Given the description of an element on the screen output the (x, y) to click on. 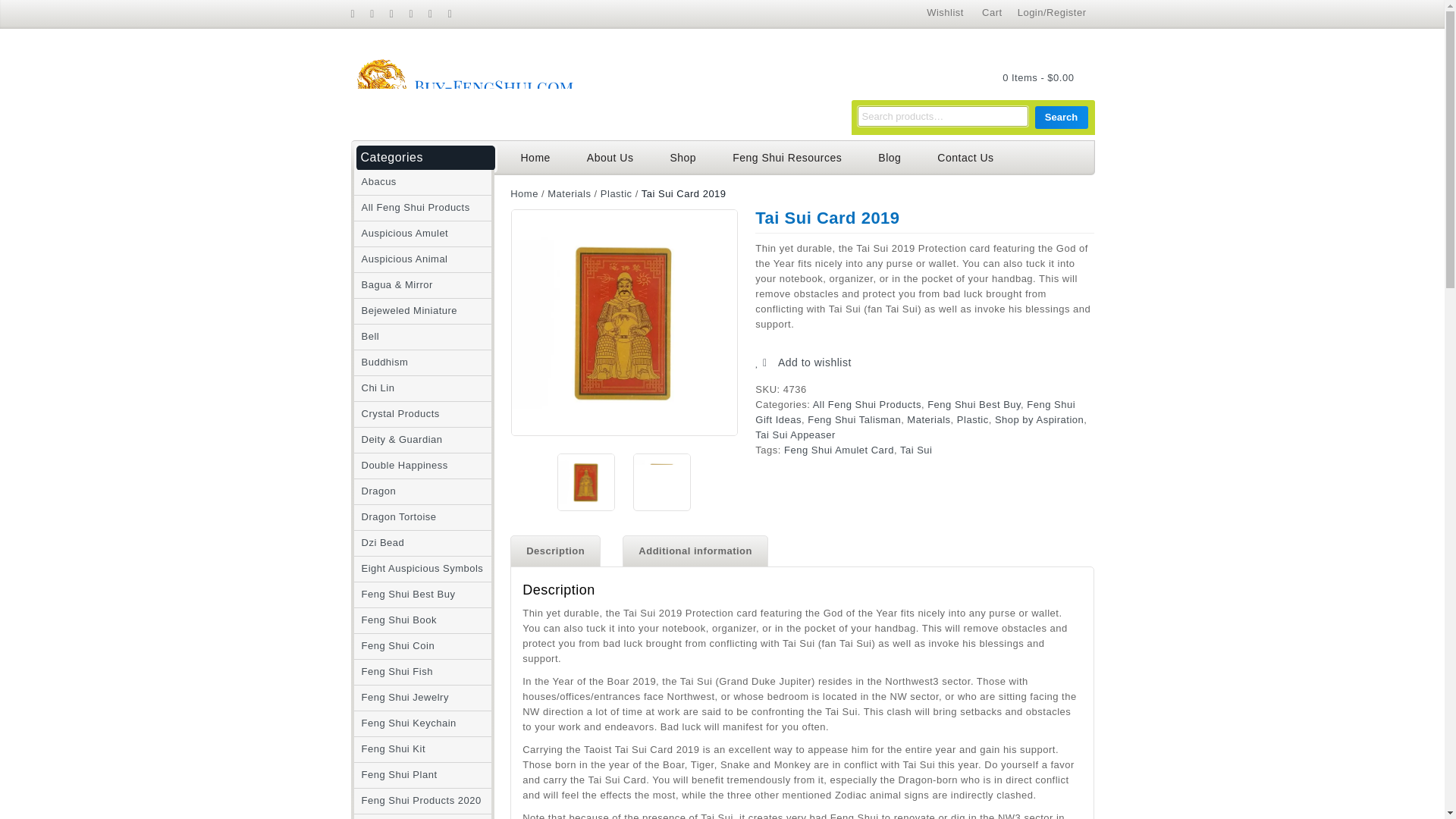
View your shopping cart (1038, 77)
Buy-FengShui.com (464, 83)
Auspicious Animal (399, 258)
Tai Sui Card 2019 1 (585, 482)
Tai Sui Card 2019 2 (661, 482)
Cart (992, 12)
Tai Sui Card 2019 1 (624, 322)
Bejeweled Miniature (405, 310)
Chi Lin (373, 387)
View your shopping cart (1034, 78)
